Given the description of an element on the screen output the (x, y) to click on. 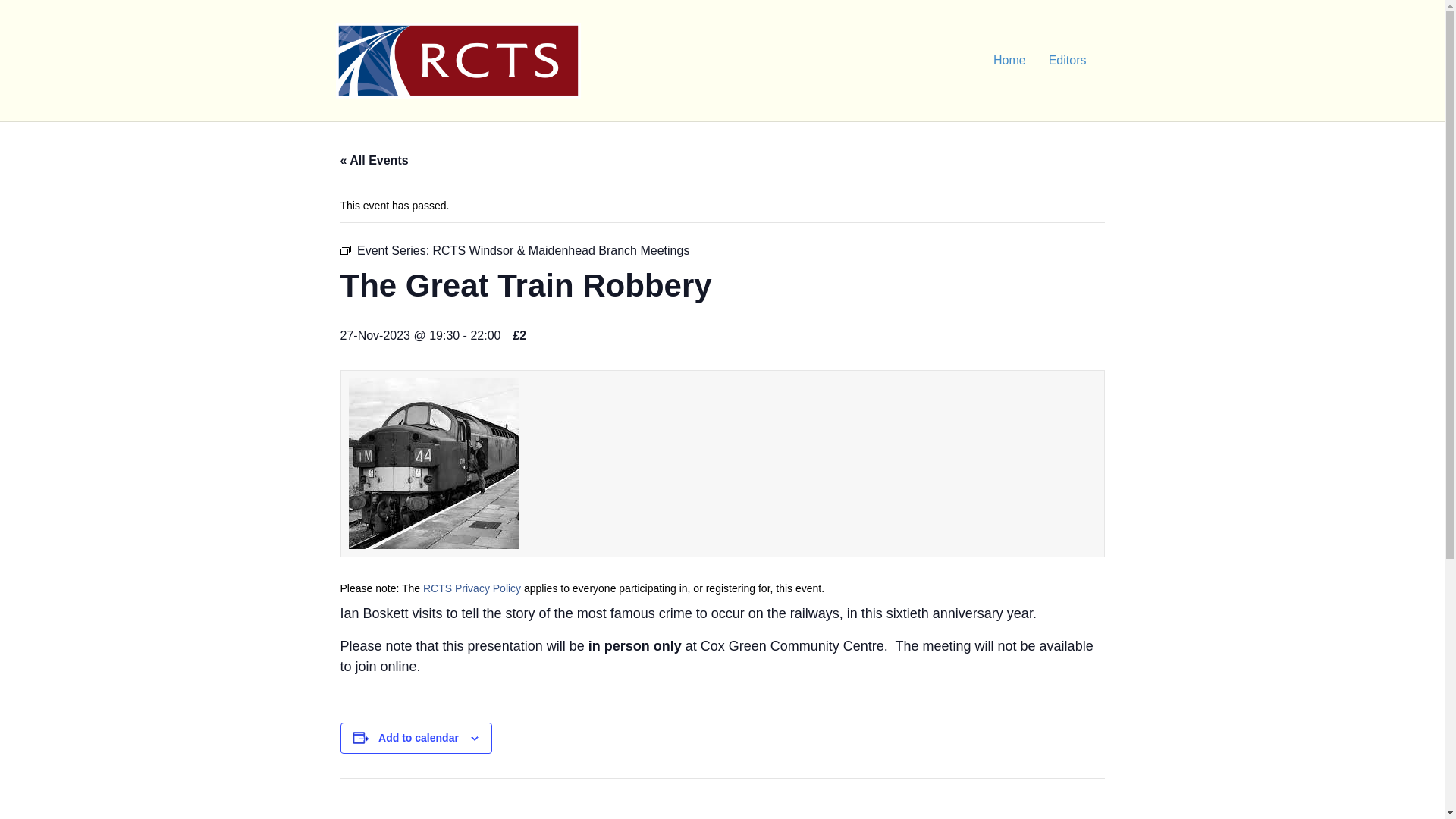
Google maps iframe displaying the address to MHD Cox Green (1001, 810)
Editors (1066, 60)
RCTS Privacy Policy (472, 588)
Event Series (344, 249)
Add to calendar (418, 737)
Home (1008, 60)
